Given the description of an element on the screen output the (x, y) to click on. 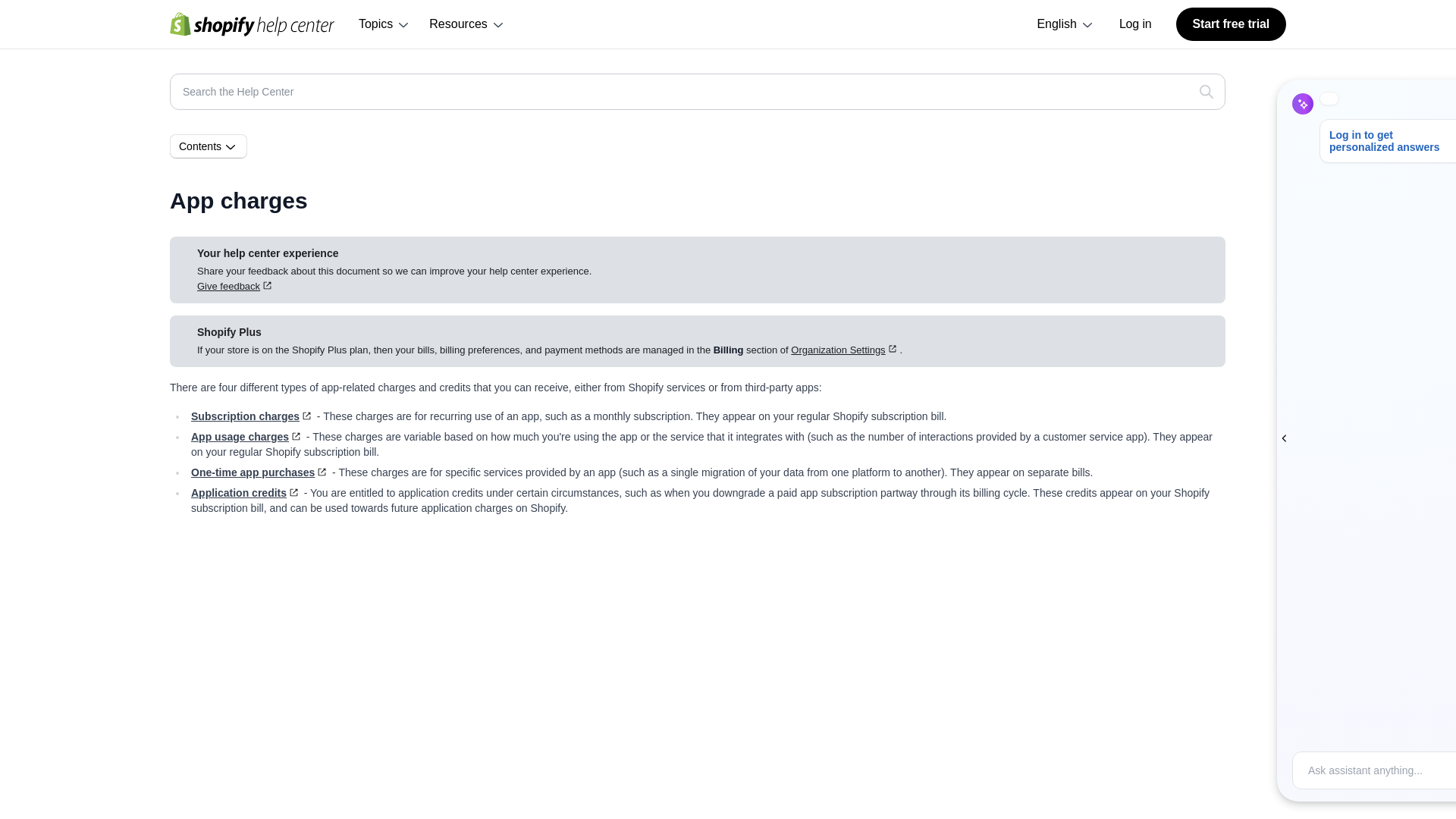
Application credits (245, 492)
Organization Settings (844, 349)
Contents (208, 146)
Start free trial (1230, 23)
Log in (1135, 23)
Resources (467, 24)
Topics (384, 24)
English (1065, 24)
Subscription charges (252, 416)
One-time app purchases (259, 472)
Give feedback (235, 285)
App usage charges (246, 436)
